Given the description of an element on the screen output the (x, y) to click on. 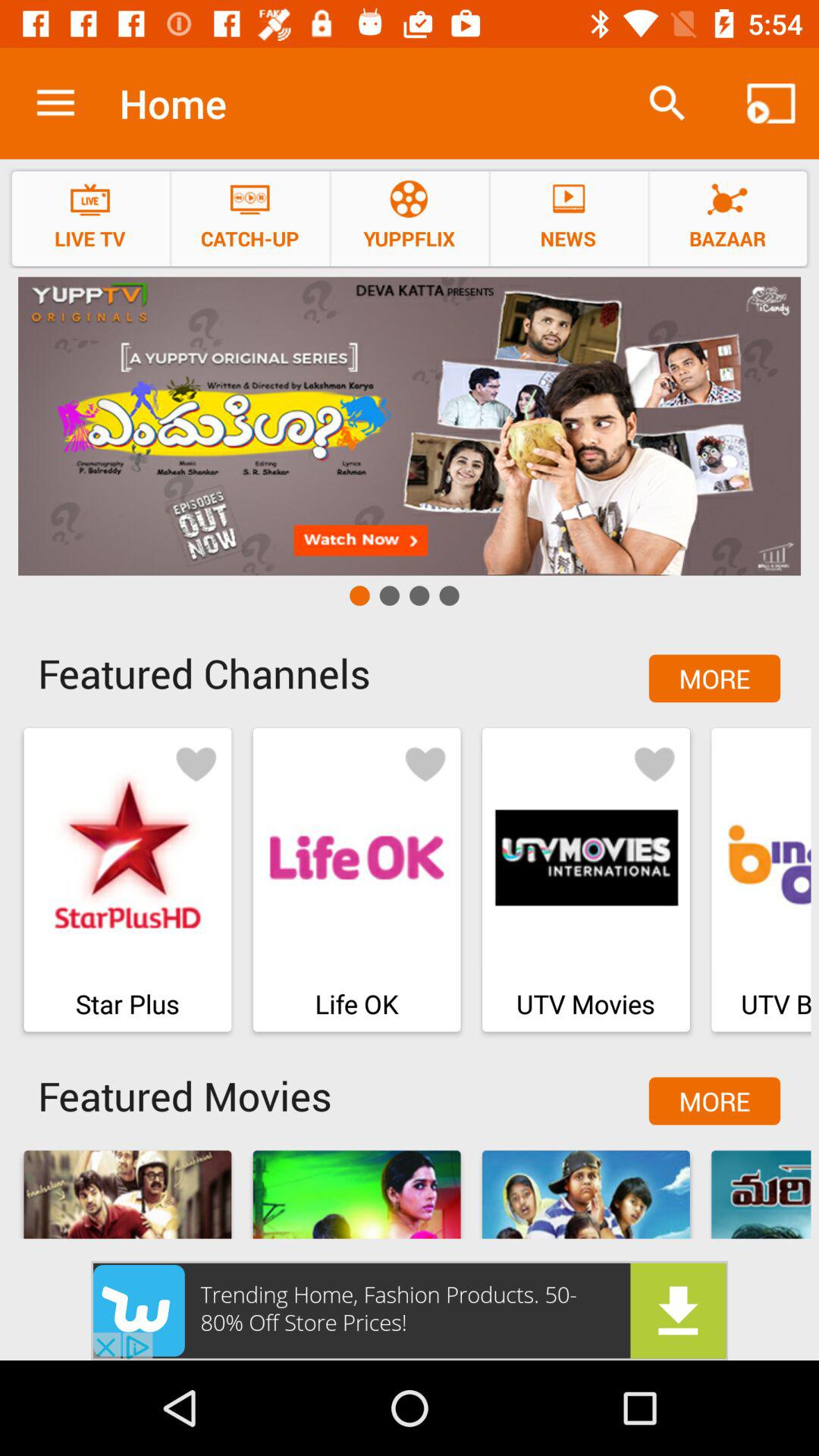
toggle love reaction (425, 763)
